Given the description of an element on the screen output the (x, y) to click on. 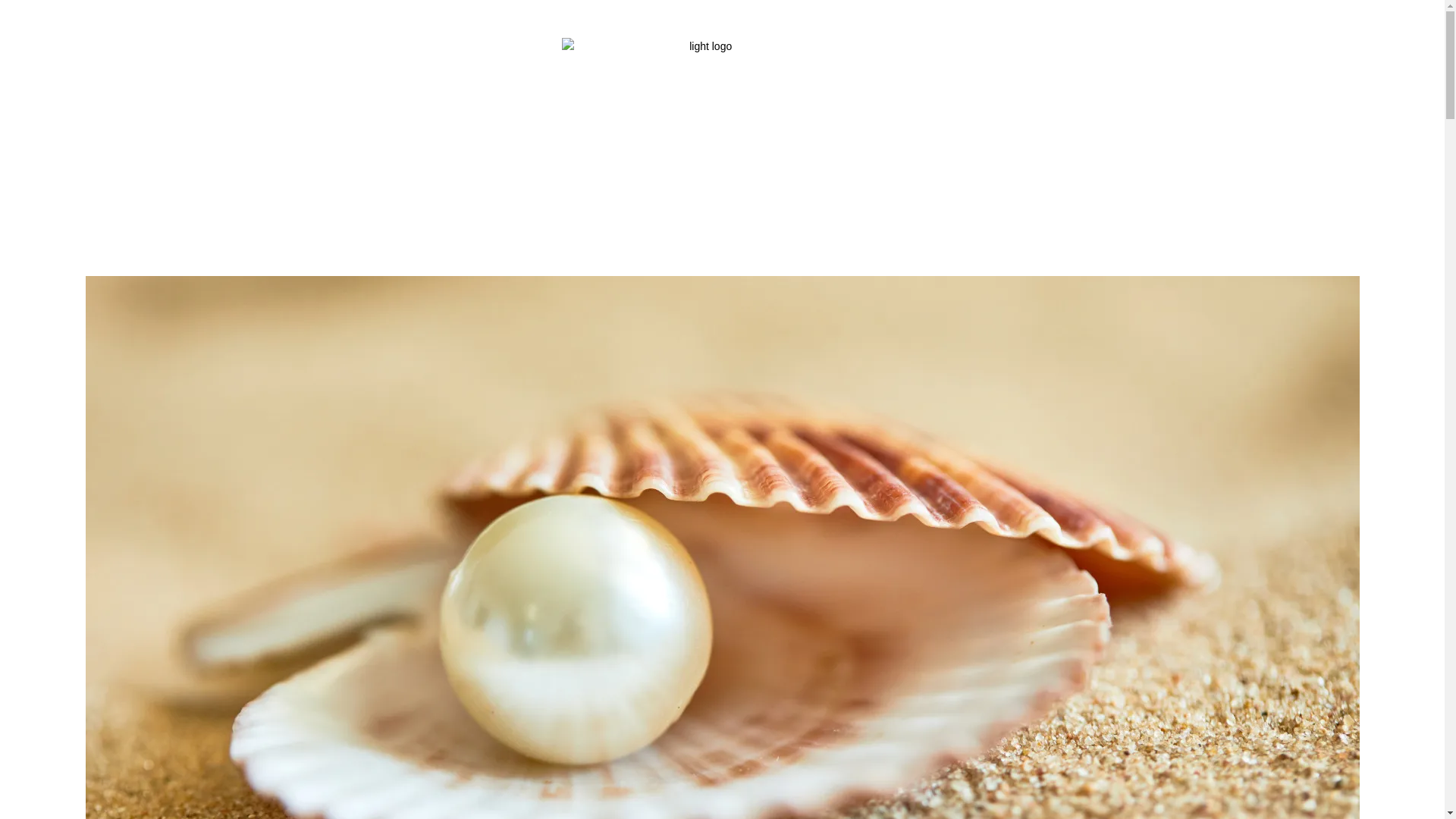
CONNECT (1136, 217)
SPELLS (486, 217)
FREE COURSES (1026, 217)
MAGIC (410, 217)
DIVINATION (578, 217)
WITCHCRAFT (317, 217)
THE APOTHECARY (702, 217)
STORE (925, 217)
